Given the description of an element on the screen output the (x, y) to click on. 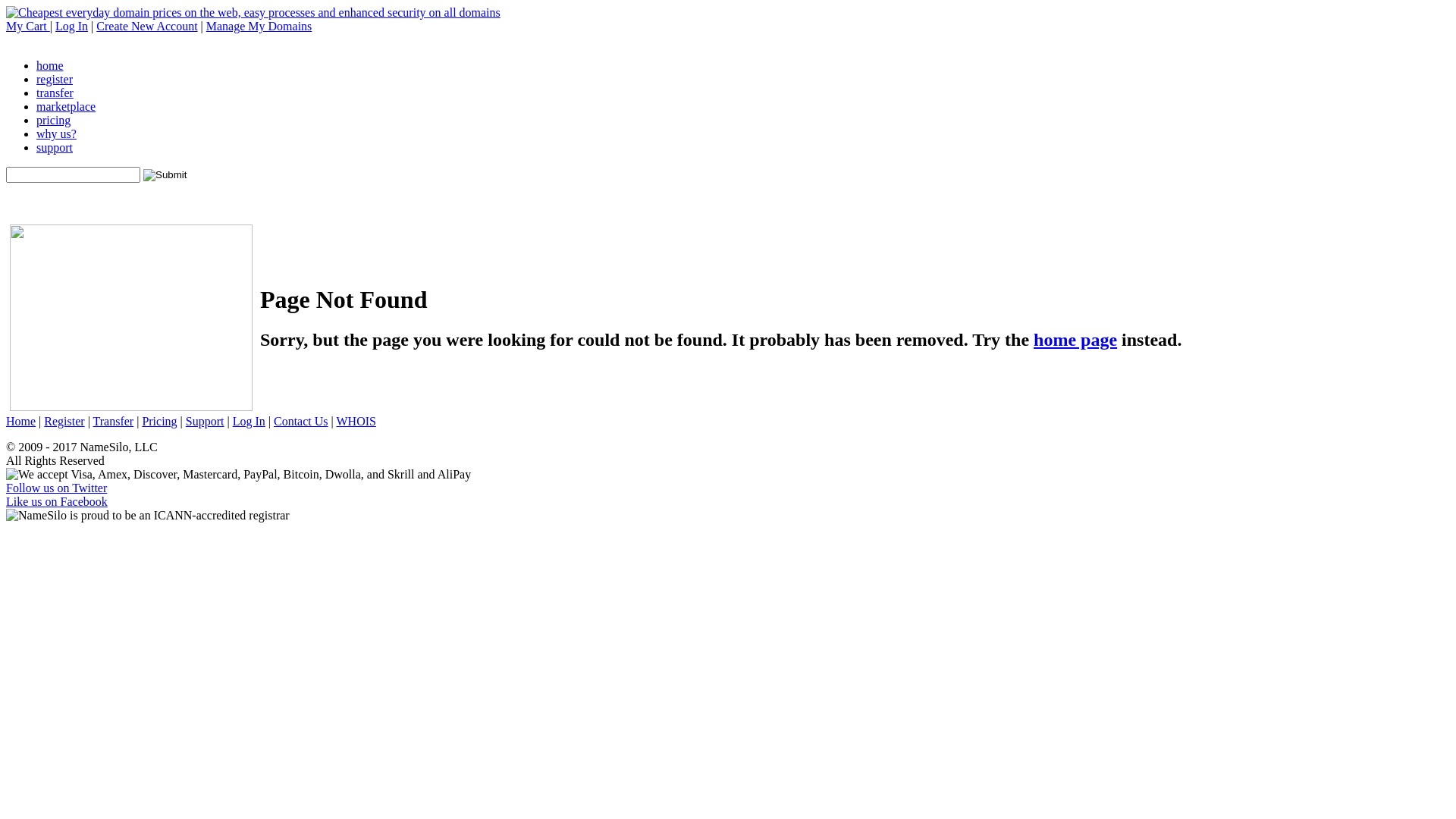
Support Element type: text (204, 420)
Create New Account Element type: text (146, 25)
NameSilo is proud to be an ICANN-accredited registrar Element type: hover (147, 515)
WHOIS Element type: text (355, 420)
why us? Element type: text (56, 133)
home page Element type: text (1075, 339)
home Element type: text (49, 65)
transfer Element type: text (54, 92)
Log In Element type: text (71, 25)
Contact Us Element type: text (300, 420)
Home Element type: text (20, 420)
Log In Element type: text (248, 420)
support Element type: text (54, 147)
register Element type: text (54, 78)
Transfer Element type: text (113, 420)
marketplace Element type: text (65, 106)
My Cart Element type: text (28, 25)
Follow us on Twitter Element type: text (56, 487)
Manage My Domains Element type: text (259, 25)
Register Element type: text (63, 420)
Like us on Facebook Element type: text (56, 501)
Pricing Element type: text (158, 420)
pricing Element type: text (53, 119)
